Given the description of an element on the screen output the (x, y) to click on. 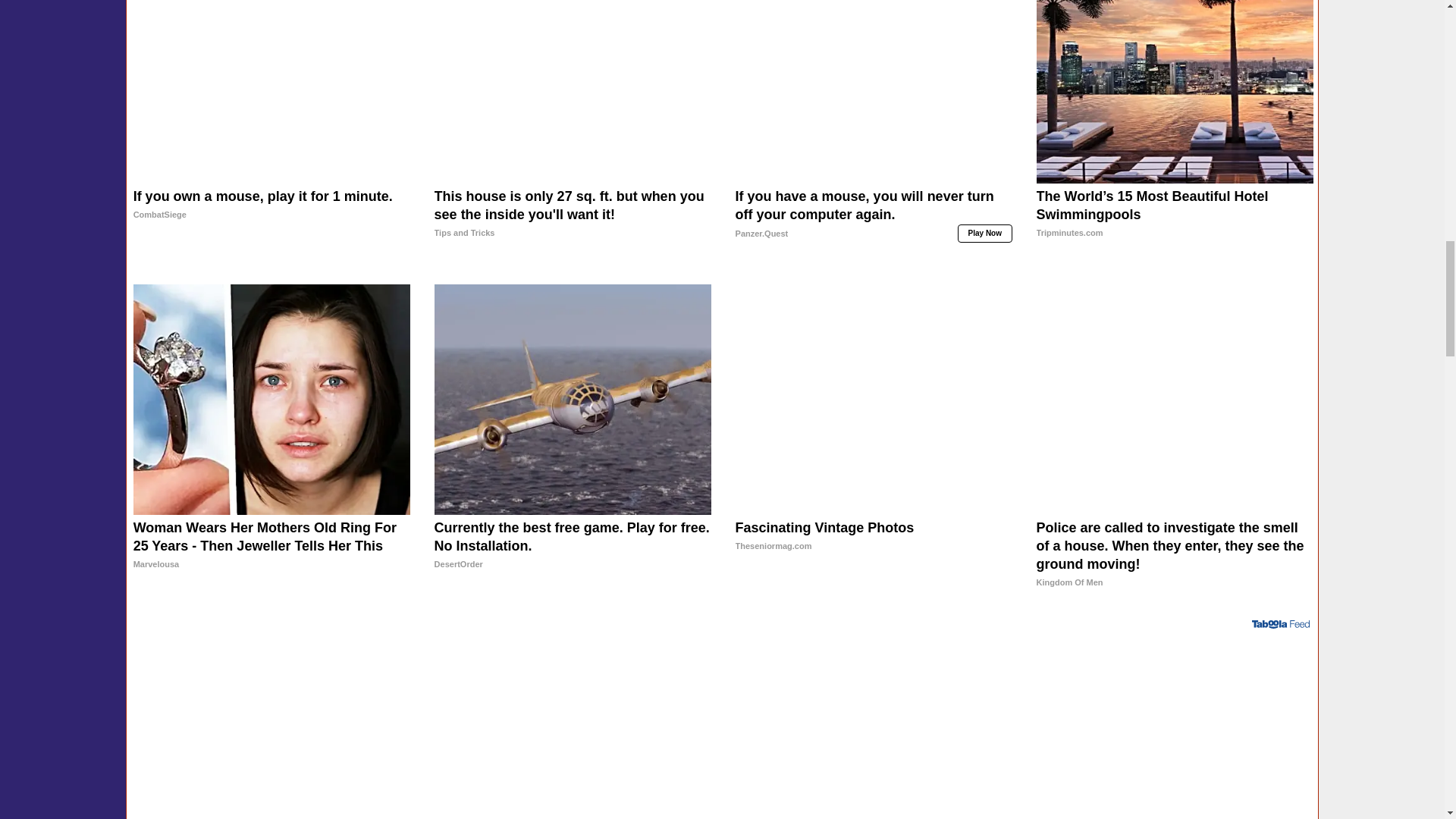
Fascinating Vintage Photos (873, 554)
If you own a mouse, play it for 1 minute. (271, 223)
